Given the description of an element on the screen output the (x, y) to click on. 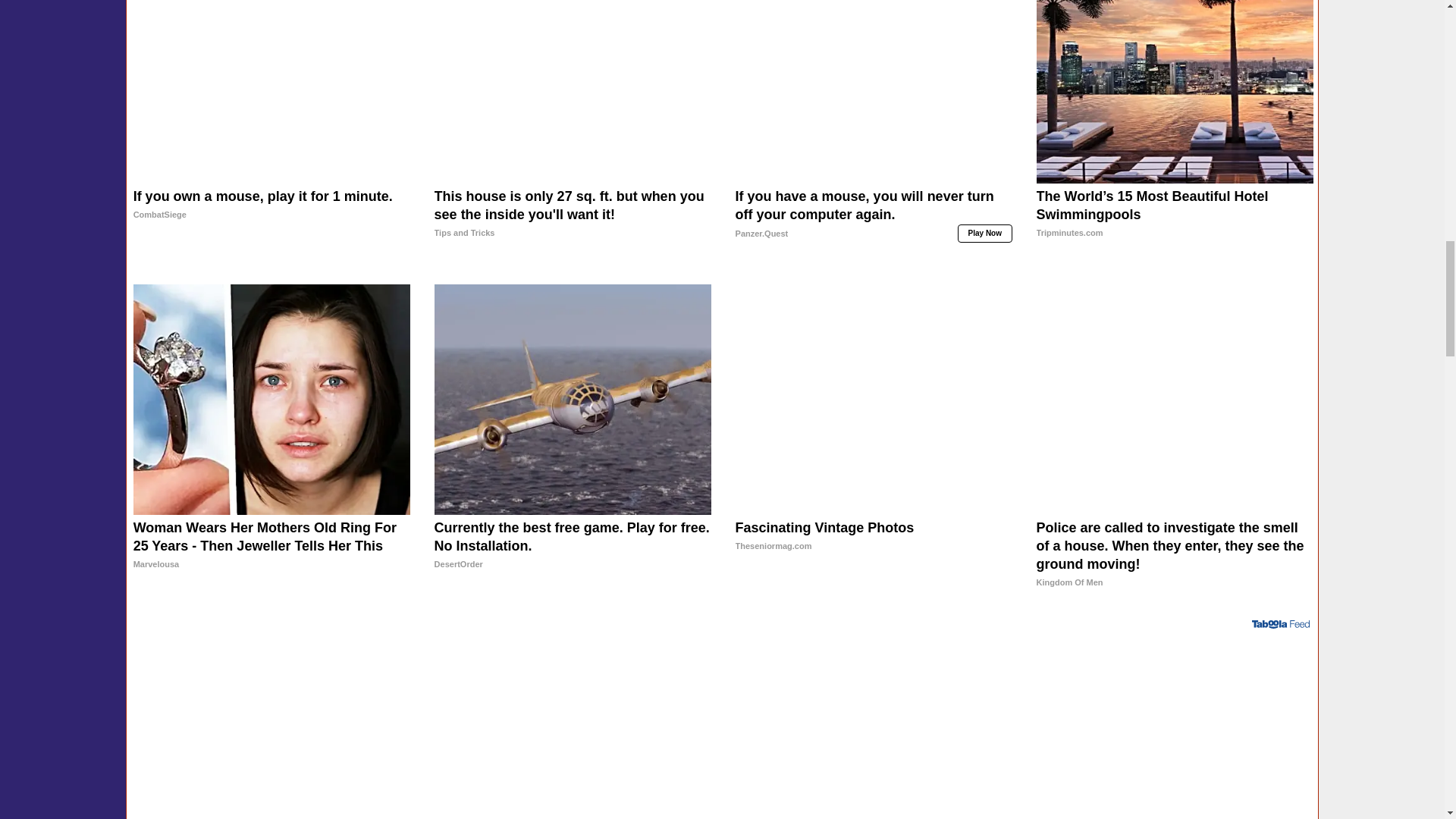
Fascinating Vintage Photos (873, 554)
If you own a mouse, play it for 1 minute. (271, 223)
